Given the description of an element on the screen output the (x, y) to click on. 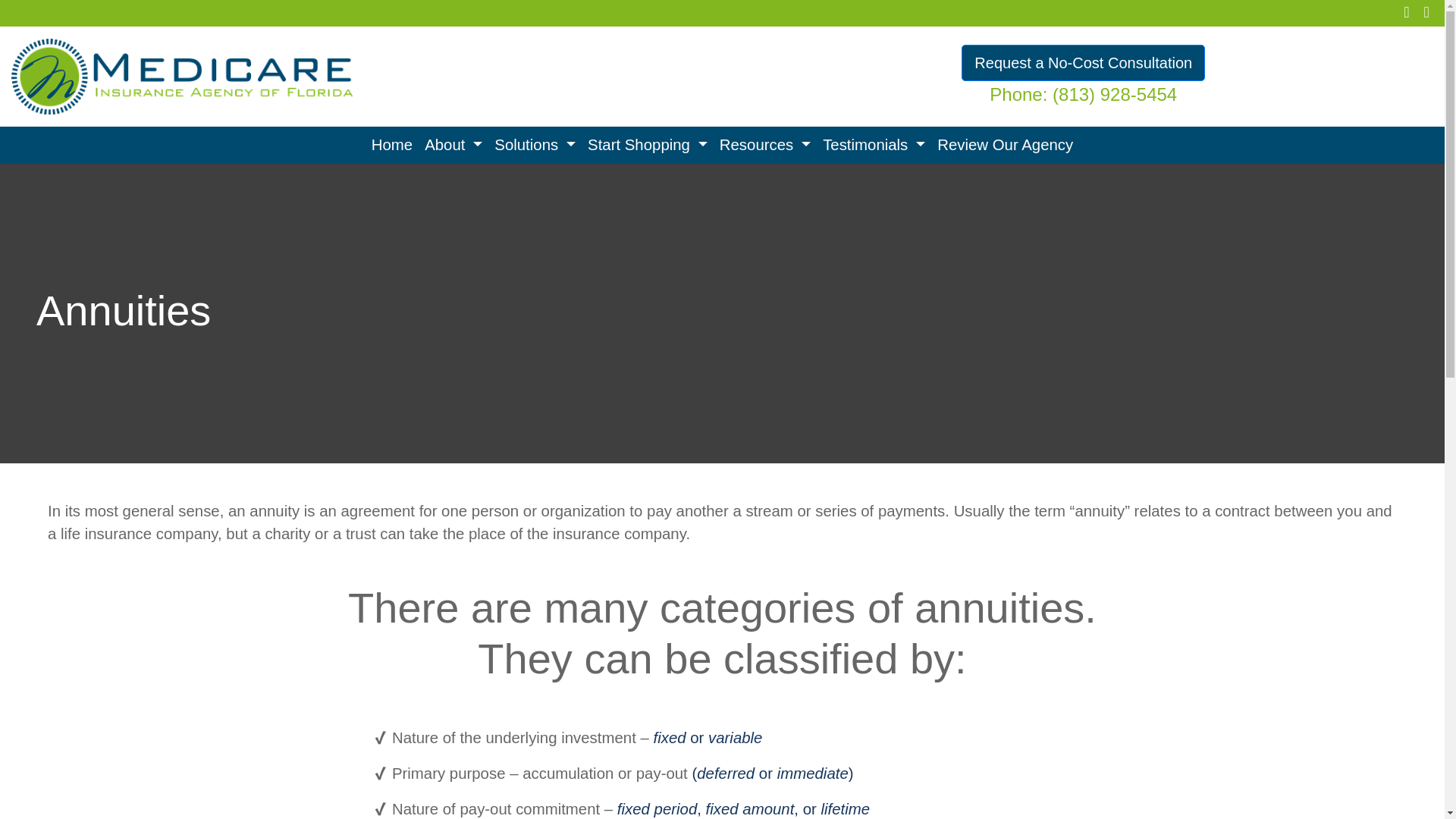
About (453, 144)
Start Shopping (646, 144)
Medicare Insurance Agency of Florida (181, 74)
Solutions (533, 144)
Request a No-Cost Consultation (1082, 63)
Home (392, 144)
